Given the description of an element on the screen output the (x, y) to click on. 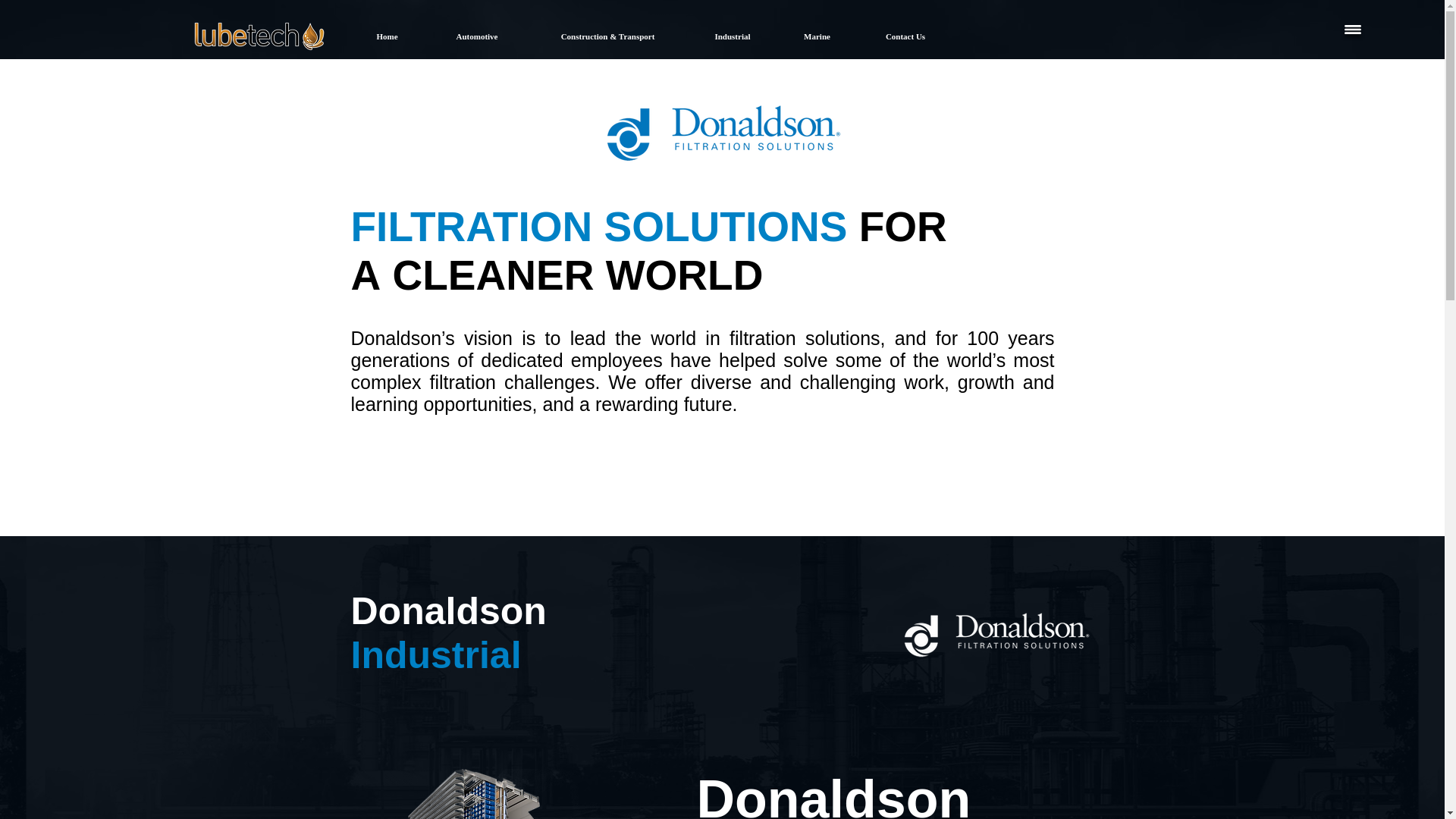
Contact Us (904, 36)
Home (387, 36)
Industrial (732, 36)
Automotive (476, 36)
Marine (816, 36)
